Given the description of an element on the screen output the (x, y) to click on. 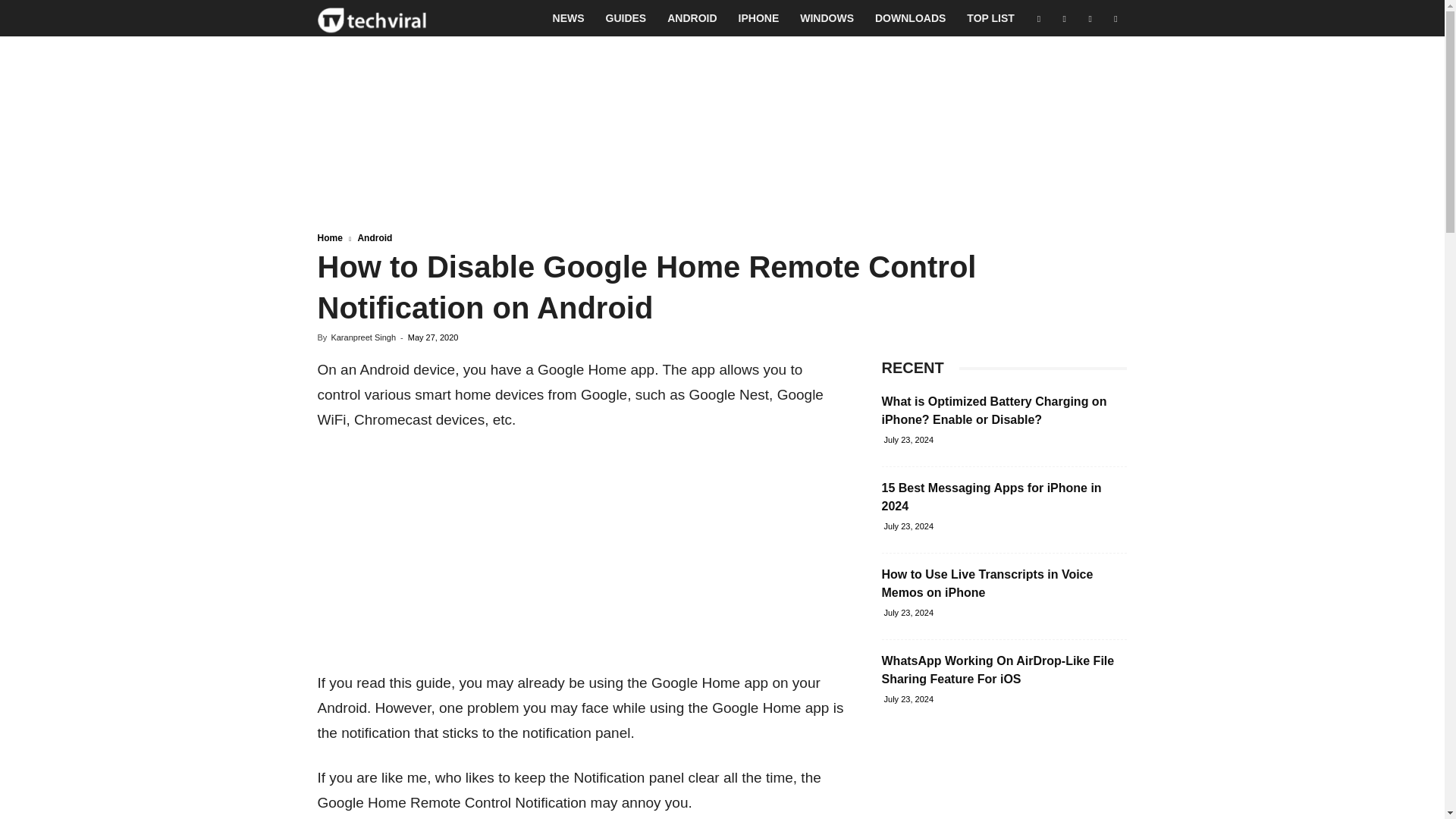
DOWNLOADS (910, 18)
IPHONE (759, 18)
Facebook (1038, 18)
NEWS (568, 18)
Home (329, 237)
TechViral (371, 18)
GUIDES (626, 18)
Pinterest (1090, 18)
WINDOWS (826, 18)
Tech Viral (371, 18)
Instagram (1063, 18)
ANDROID (691, 18)
TOP LIST (990, 18)
Twitter (1114, 18)
